Given the description of an element on the screen output the (x, y) to click on. 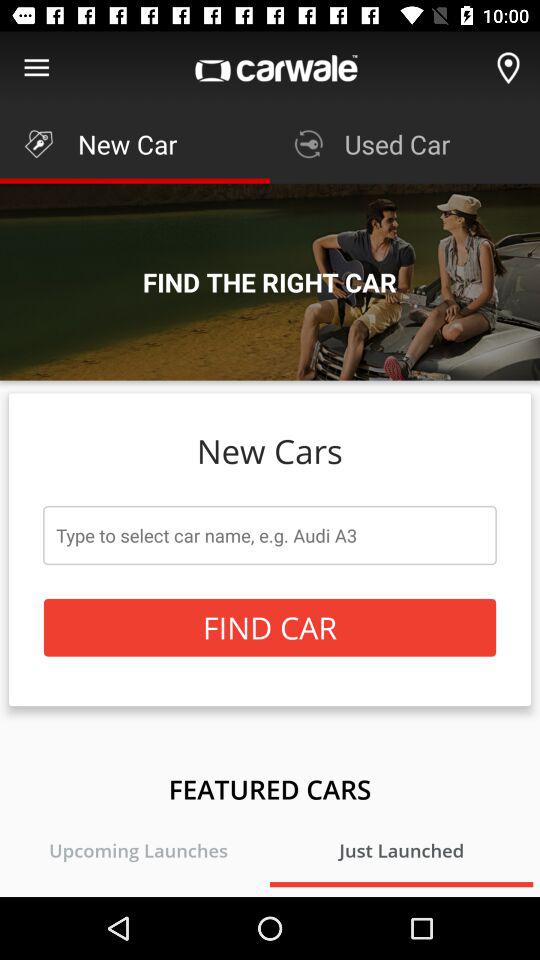
launch the icon below the new cars item (269, 535)
